Given the description of an element on the screen output the (x, y) to click on. 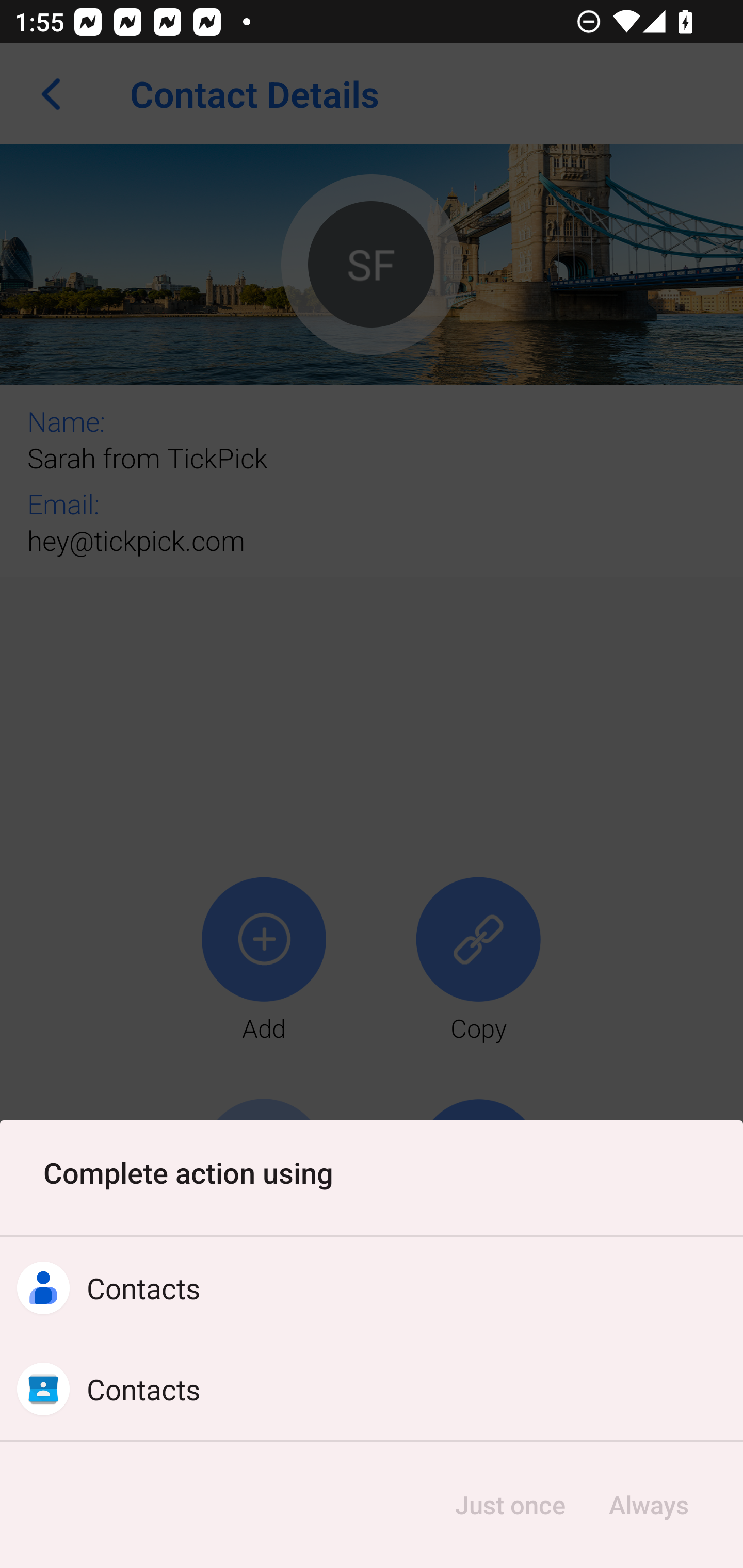
Contacts (371, 1288)
Contacts (371, 1389)
Just once (509, 1504)
Always (648, 1504)
